Given the description of an element on the screen output the (x, y) to click on. 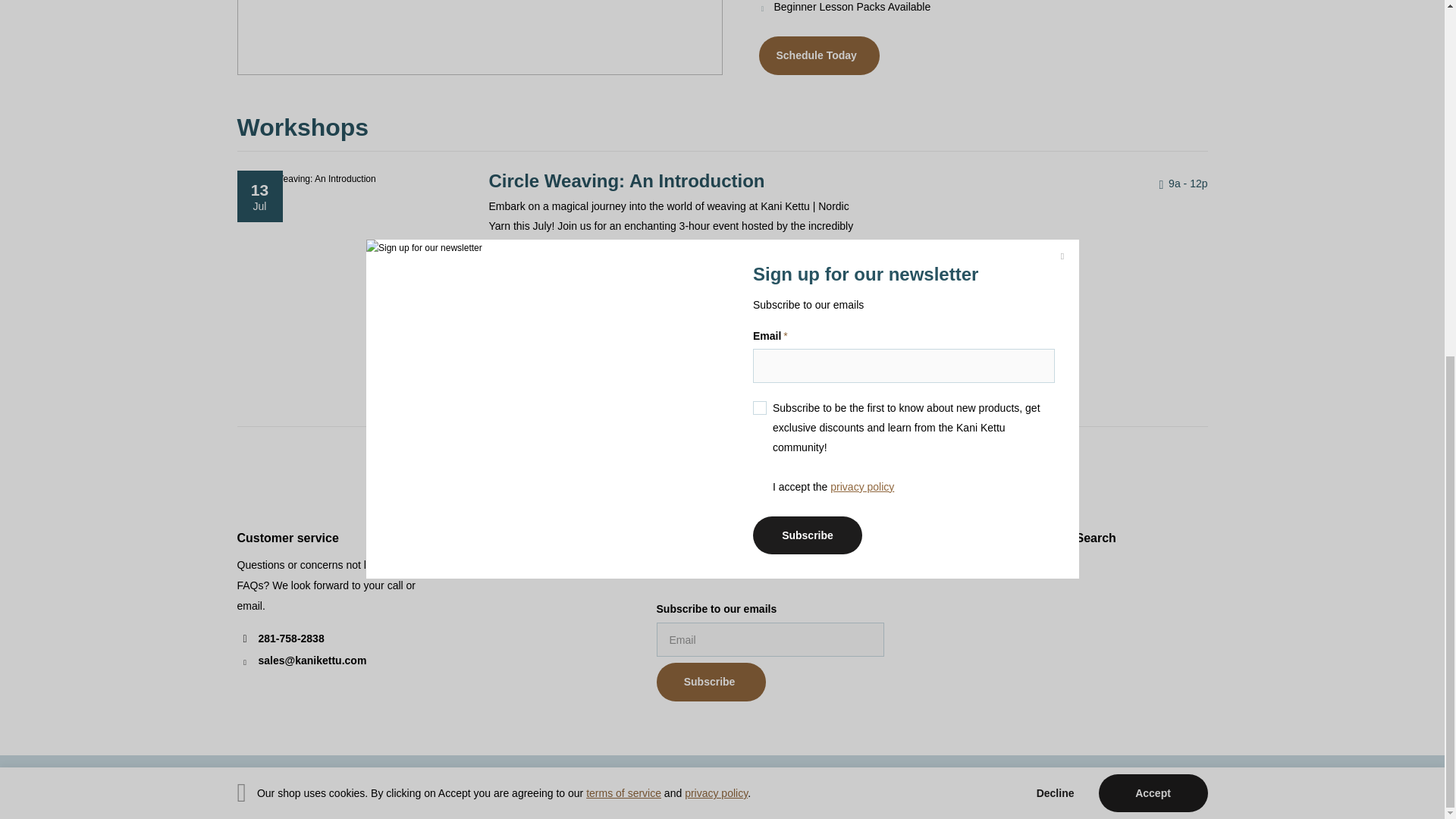
American Express (864, 787)
JCB (1010, 787)
Shop Pay (1119, 787)
Mastercard (1046, 787)
PayPal (1082, 787)
Venmo (1155, 787)
Privacy Policy (716, 166)
Apple Pay (900, 787)
Terms of Service (623, 166)
Discover (973, 787)
Diners Club (937, 787)
Visa (1192, 787)
